Given the description of an element on the screen output the (x, y) to click on. 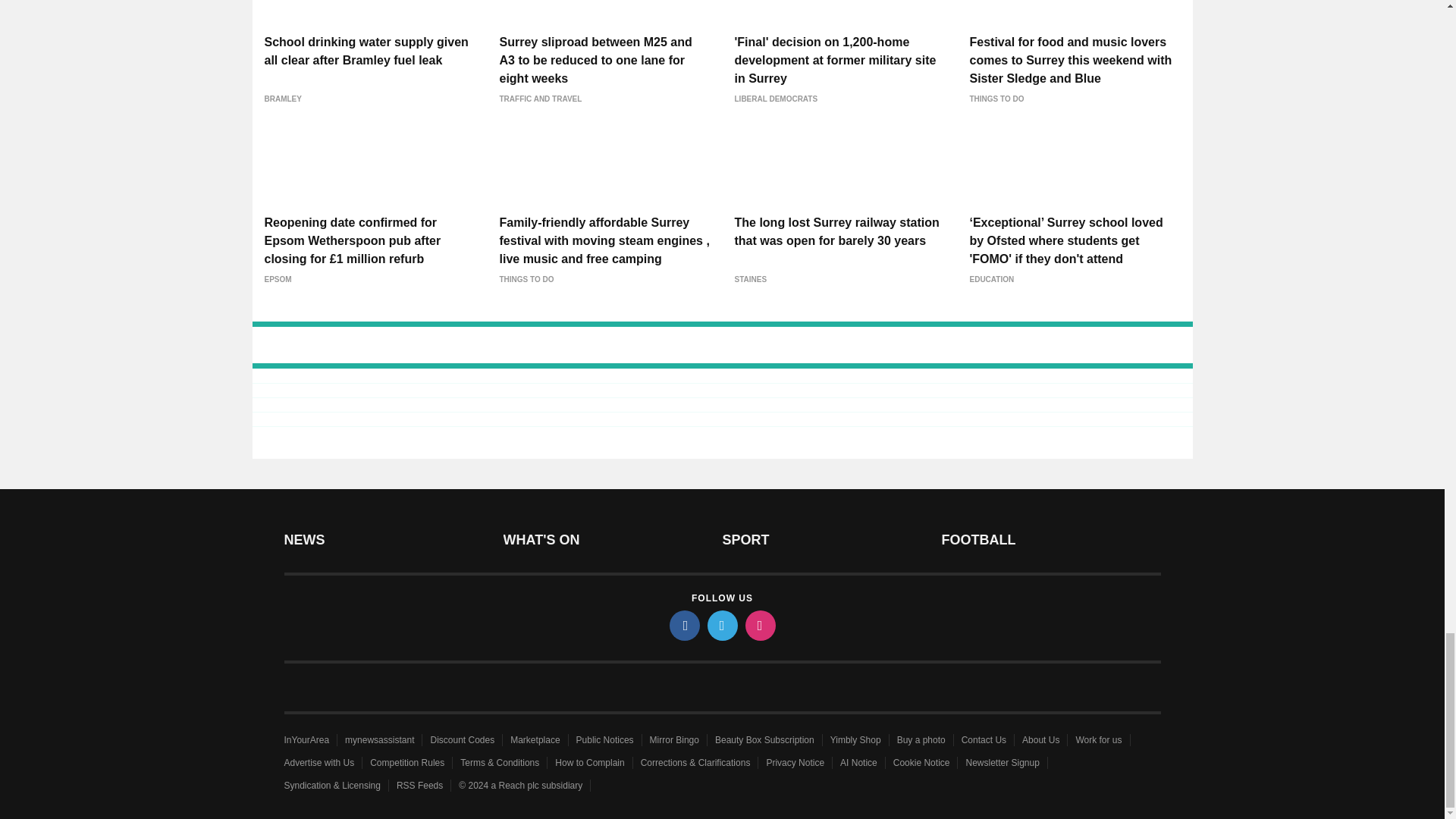
twitter (721, 625)
facebook (683, 625)
instagram (759, 625)
